Given the description of an element on the screen output the (x, y) to click on. 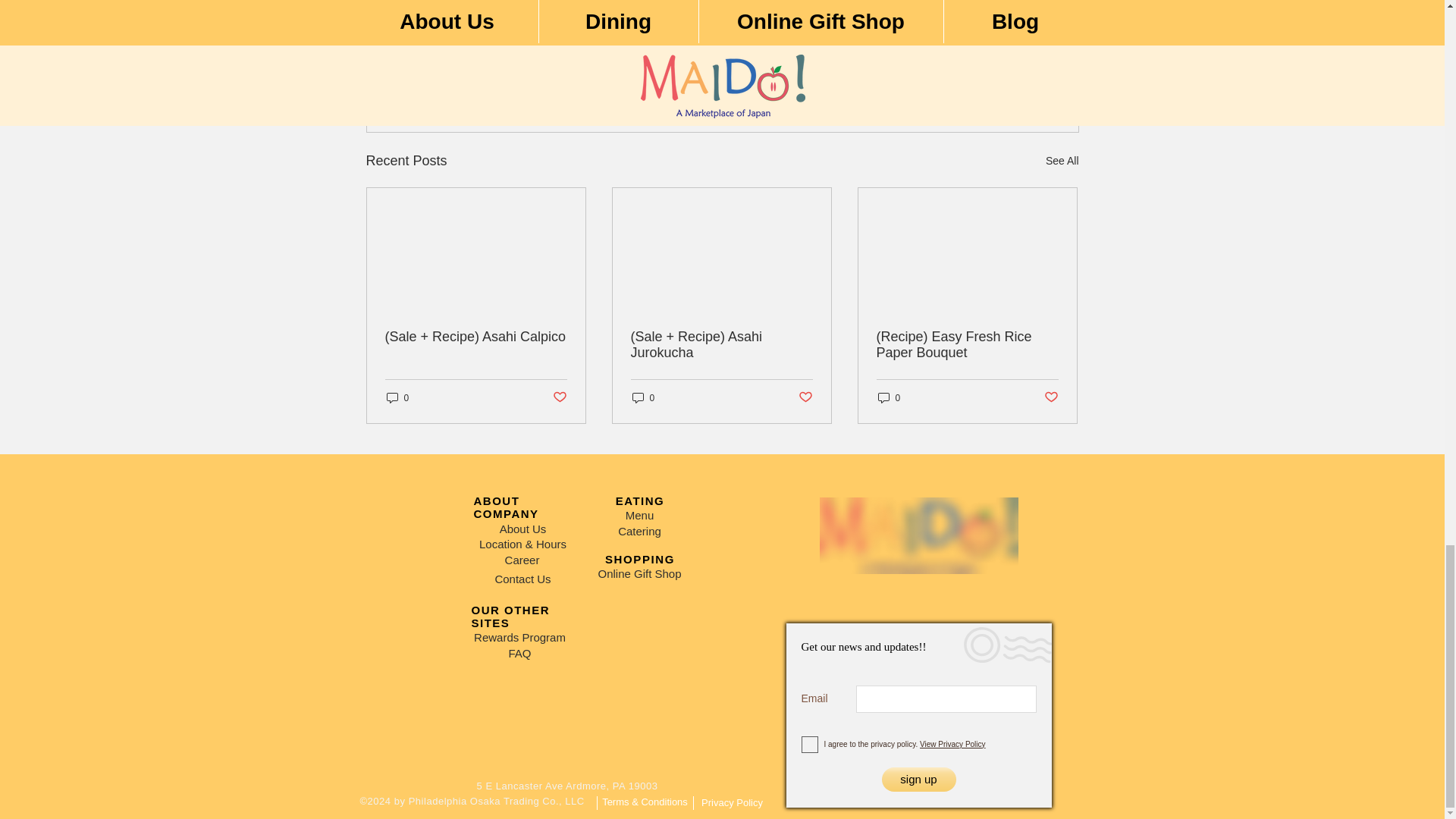
0 (643, 397)
Recipes (990, 78)
Post not marked as liked (983, 32)
0 (558, 397)
See All (397, 397)
